Given the description of an element on the screen output the (x, y) to click on. 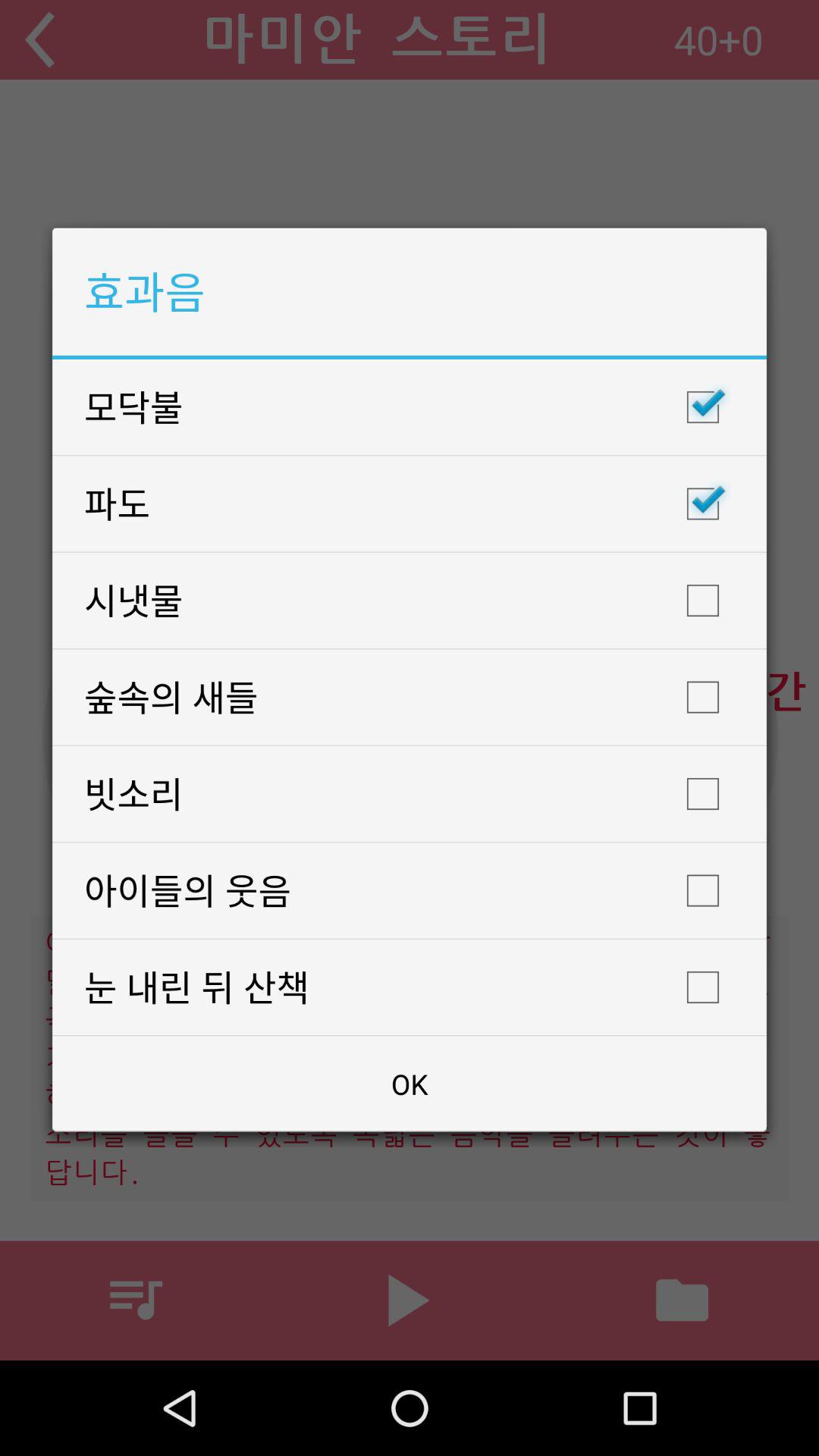
swipe until the ok item (409, 1083)
